Given the description of an element on the screen output the (x, y) to click on. 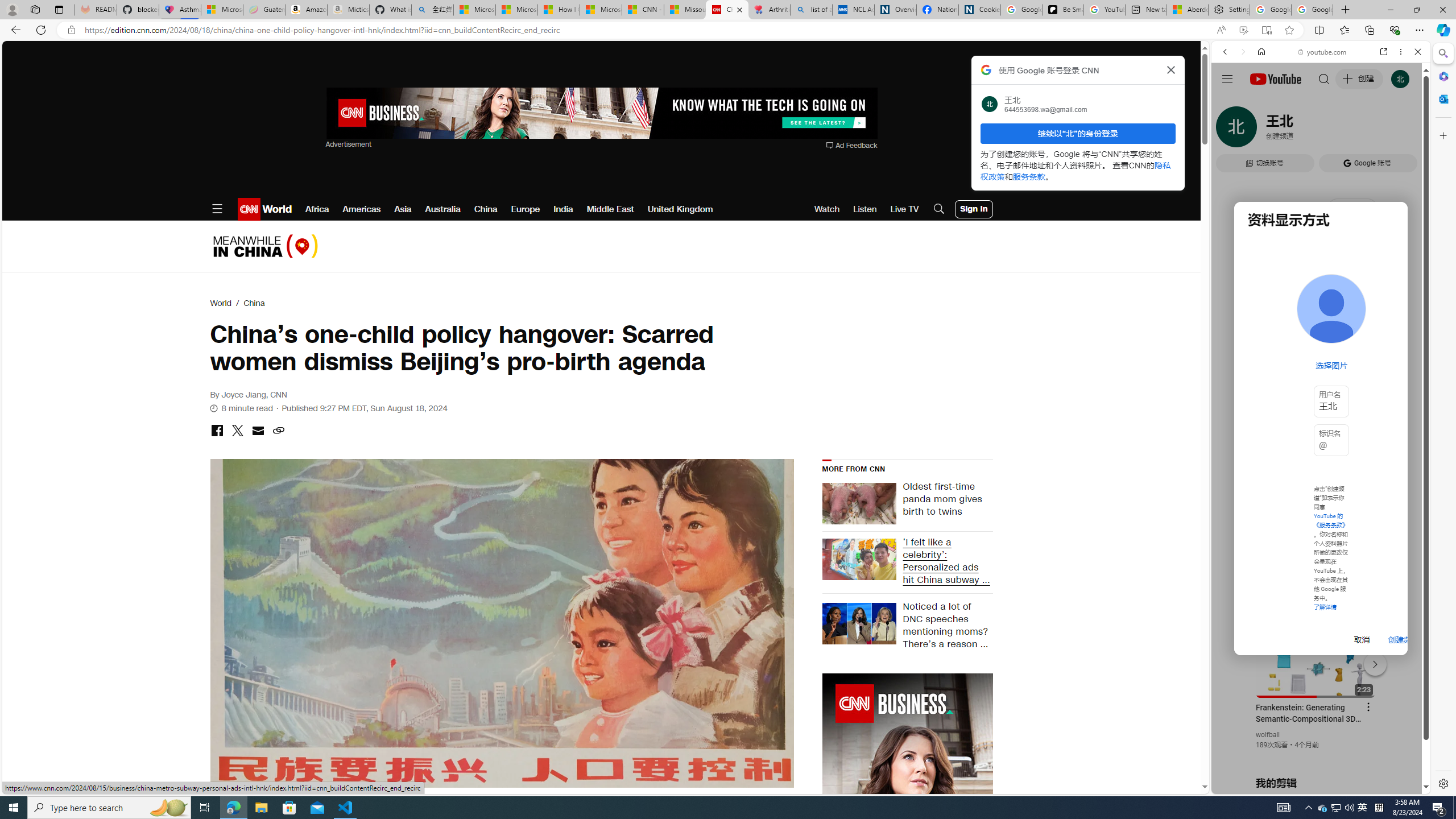
Trailer #2 [HD] (1320, 336)
Search Filter, IMAGES (1262, 129)
Search videos from youtube.com (1299, 373)
Australia (442, 209)
Aberdeen, Hong Kong SAR hourly forecast | Microsoft Weather (1186, 9)
wolfball (1268, 734)
youtube.com (1322, 51)
Meanwhile in China (264, 245)
